Given the description of an element on the screen output the (x, y) to click on. 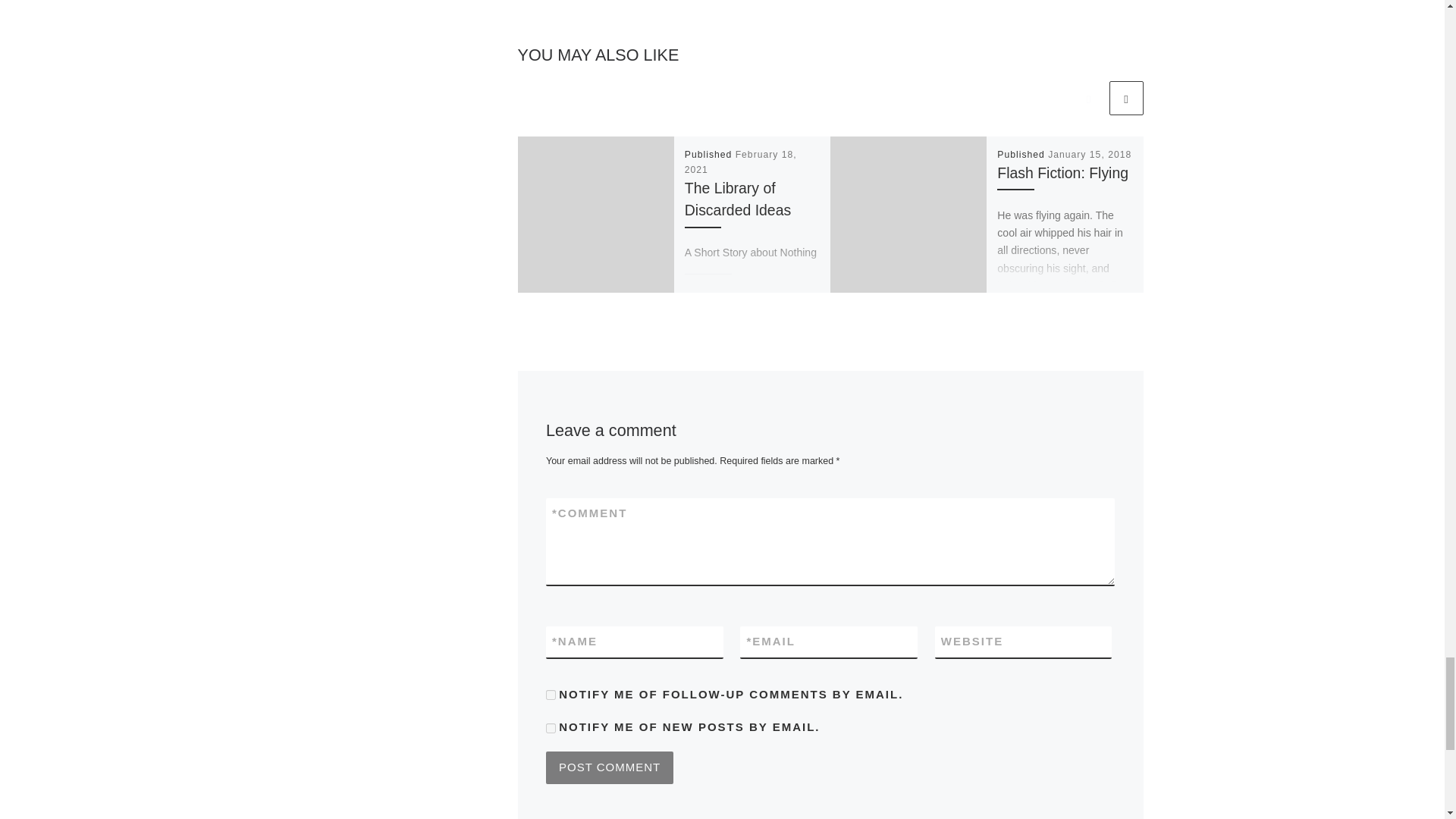
subscribe (551, 695)
Previous related articles (1088, 98)
subscribe (551, 728)
Post Comment (609, 767)
Next related articles (1125, 98)
